Given the description of an element on the screen output the (x, y) to click on. 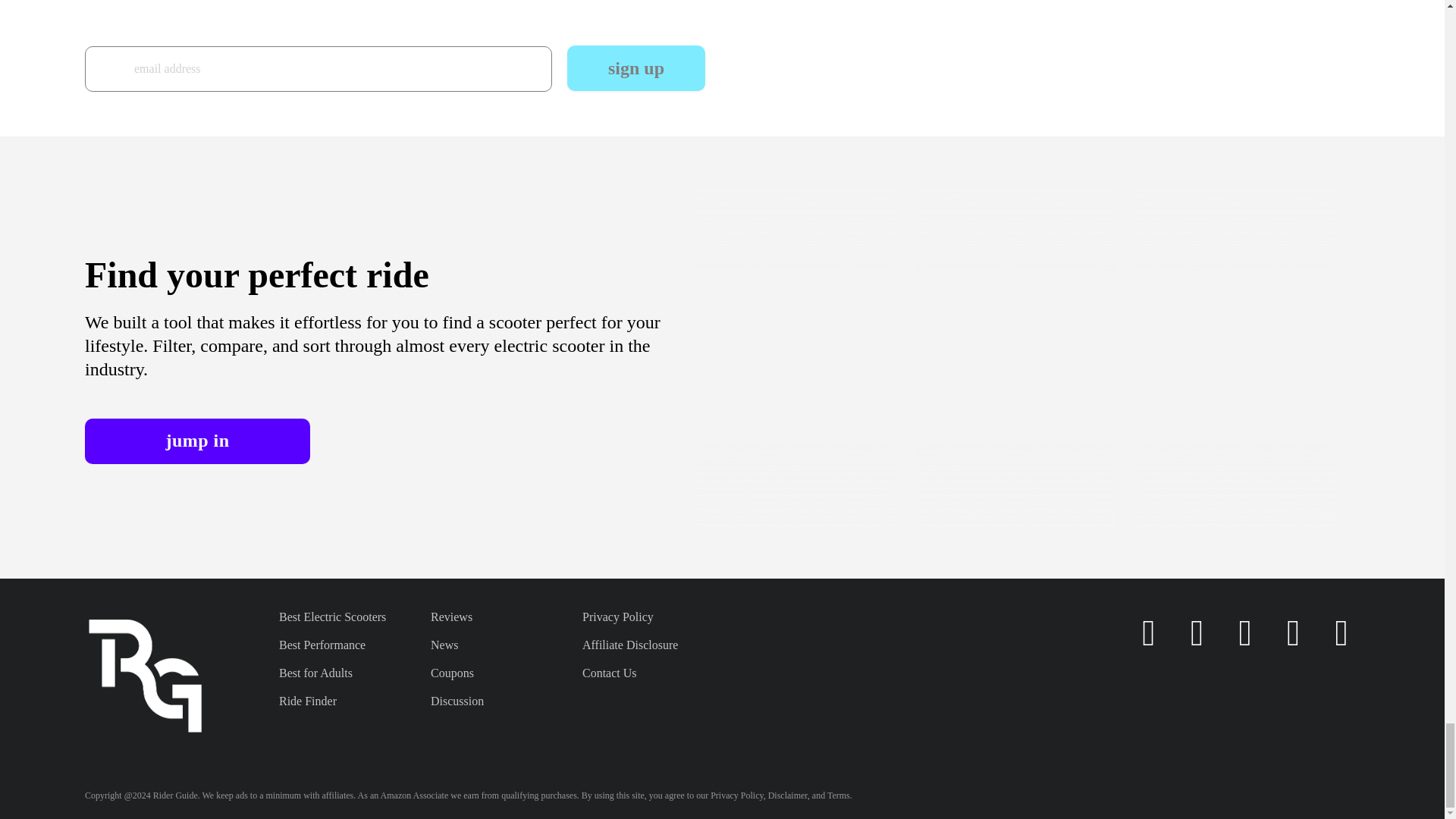
sign up (635, 67)
Find your perfect ride (256, 274)
jump in (197, 441)
